Given the description of an element on the screen output the (x, y) to click on. 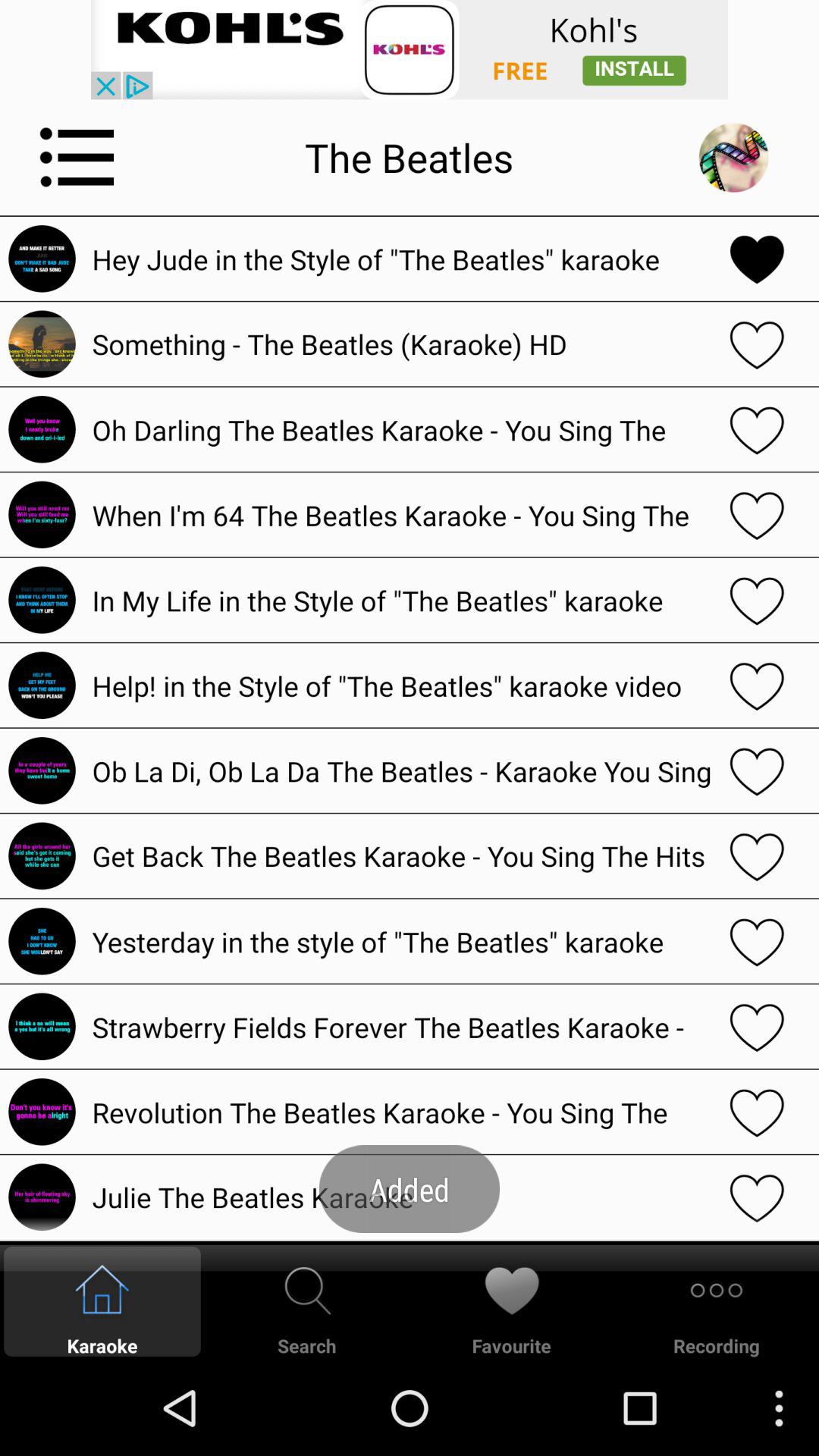
add to favourites (756, 429)
